Given the description of an element on the screen output the (x, y) to click on. 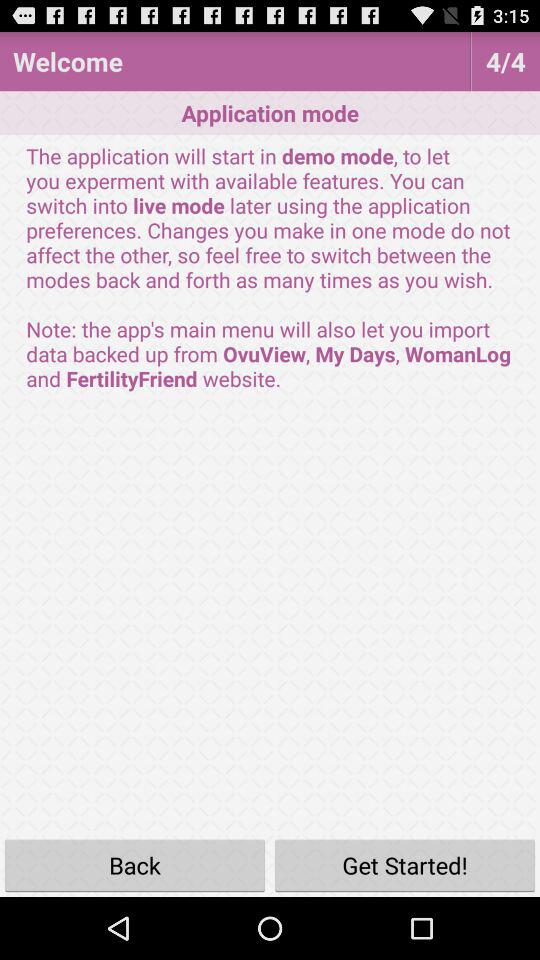
select back icon (135, 864)
